Given the description of an element on the screen output the (x, y) to click on. 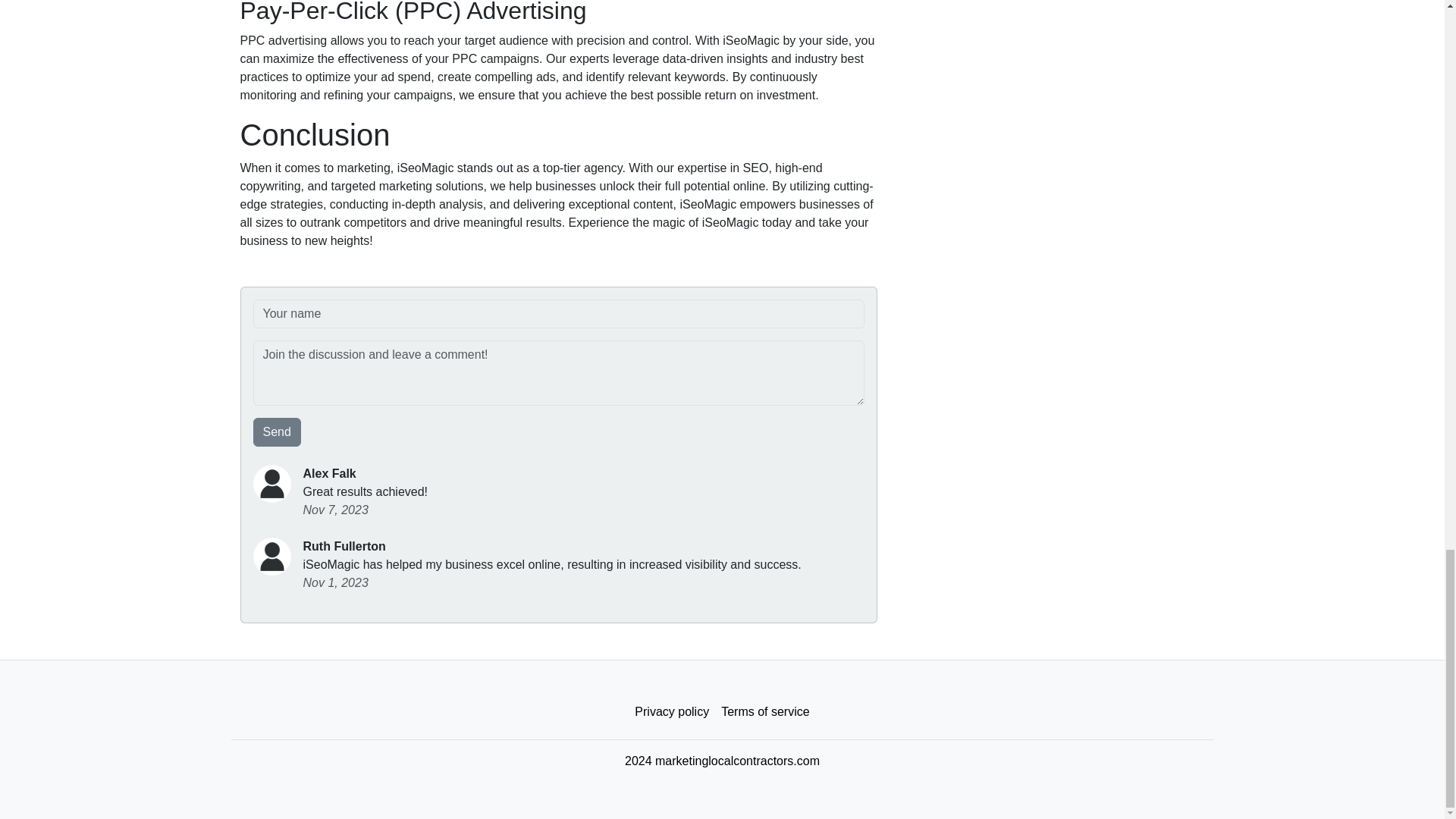
Privacy policy (671, 711)
Terms of service (764, 711)
Send (277, 431)
Send (277, 431)
